Given the description of an element on the screen output the (x, y) to click on. 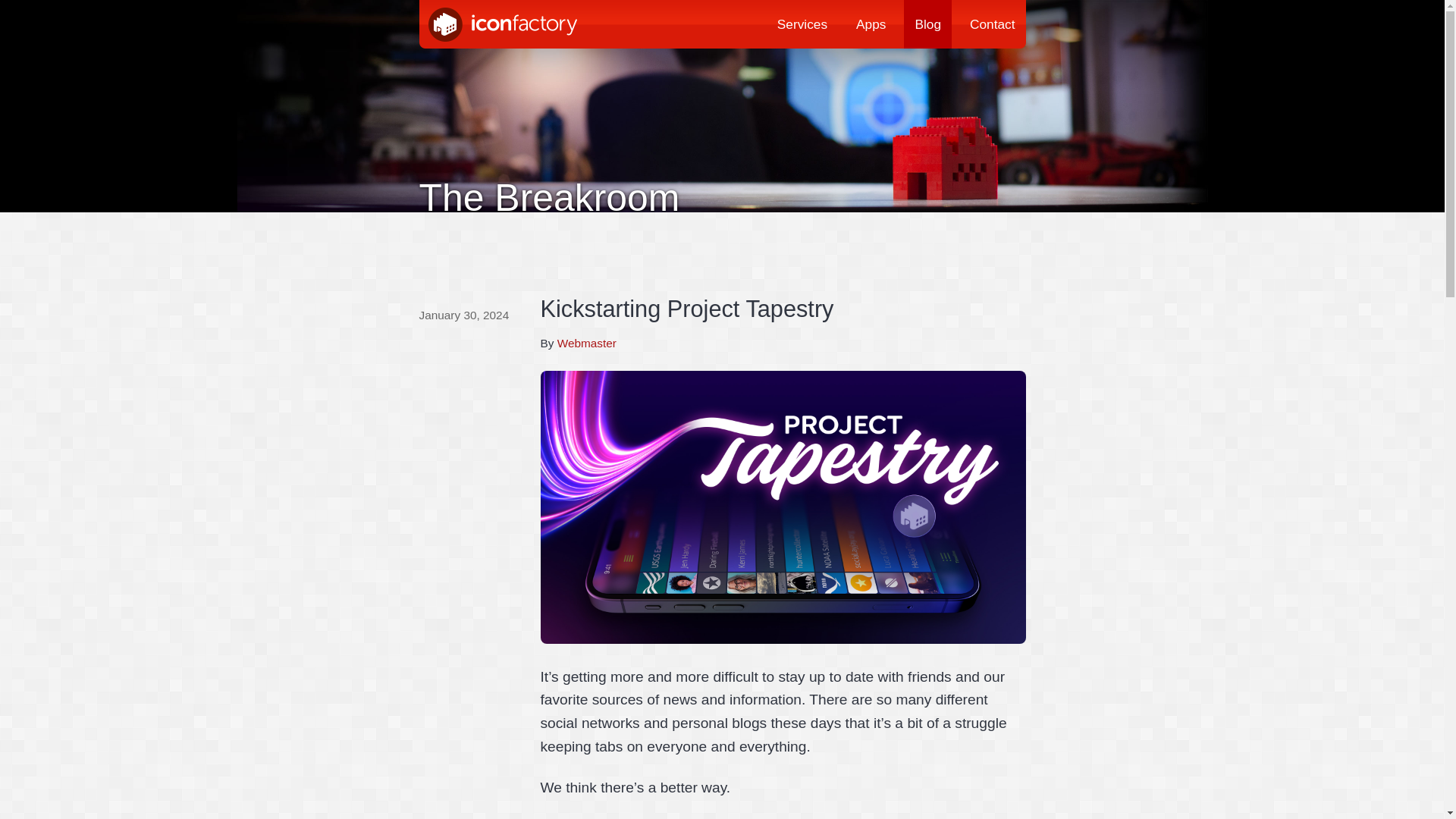
Contact (992, 24)
Apps (870, 24)
Webmaster (586, 342)
Services (802, 24)
Search (21, 7)
Blog (928, 24)
The Breakroom (722, 134)
